Given the description of an element on the screen output the (x, y) to click on. 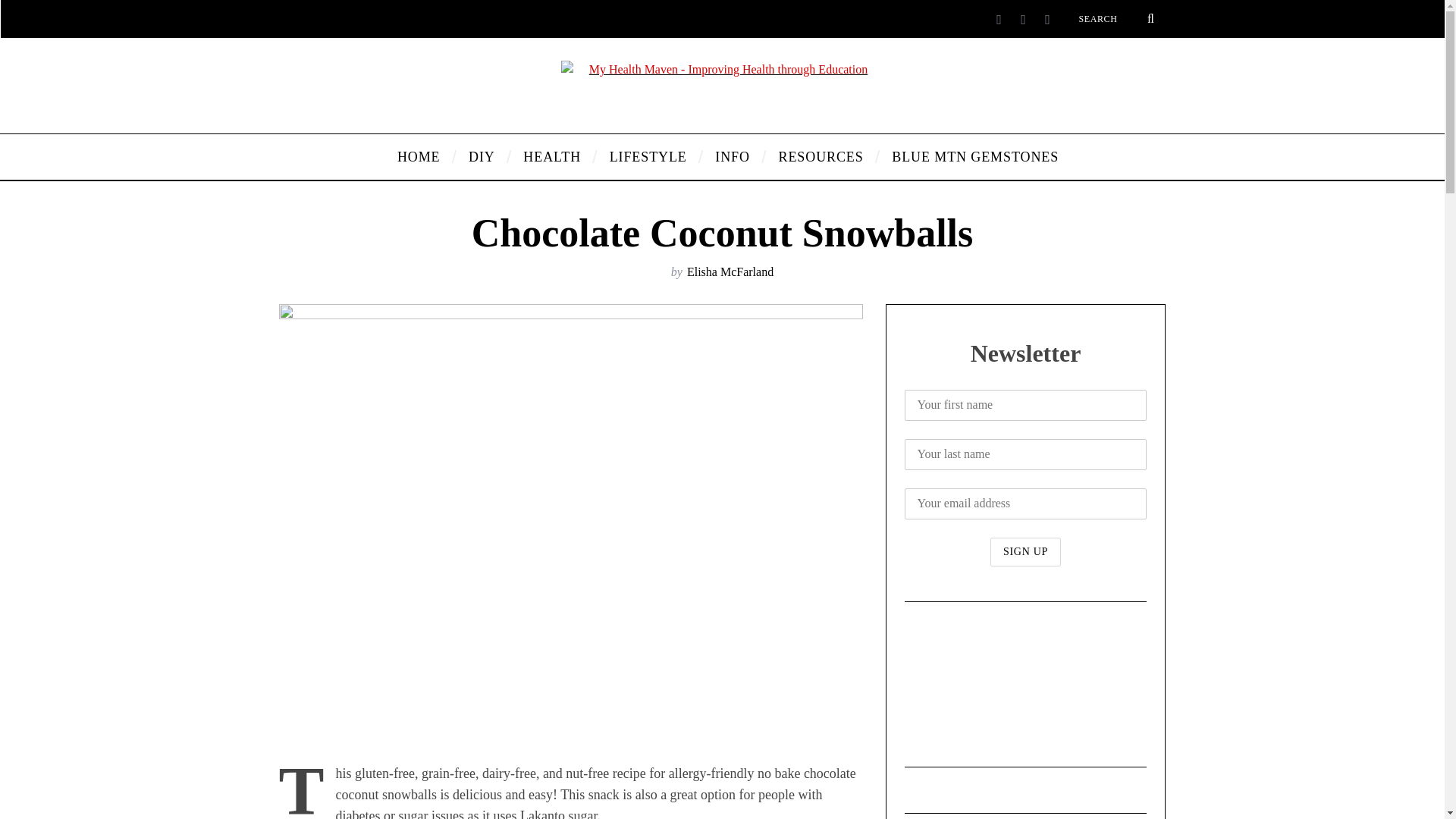
Sign up (1025, 551)
DIY (484, 156)
HEALTH (554, 156)
RESOURCES (823, 156)
LIFESTYLE (651, 156)
HOME (421, 156)
INFO (735, 156)
Search (1116, 18)
